Given the description of an element on the screen output the (x, y) to click on. 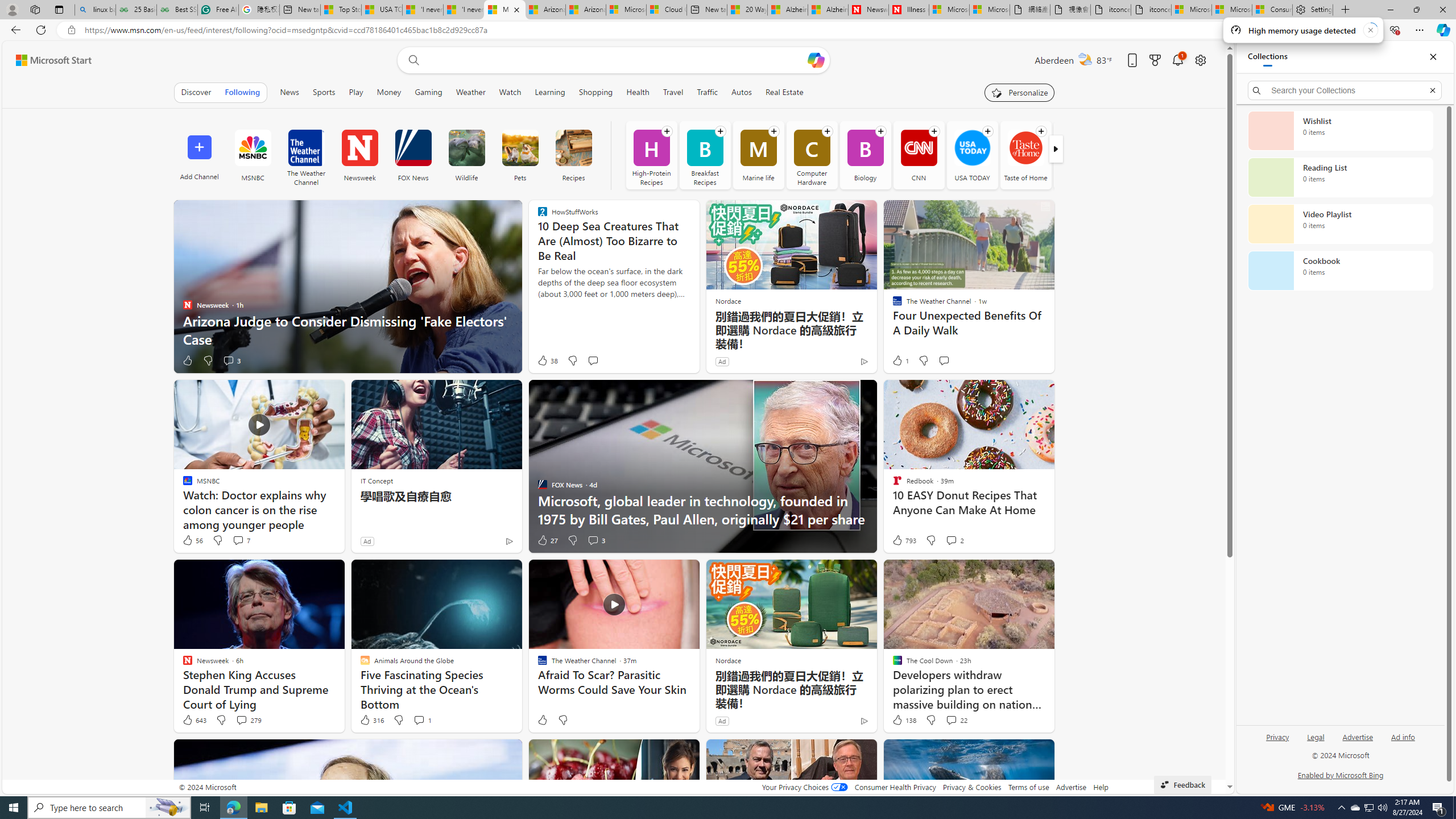
Reading List collection, 0 items (1339, 177)
Skip to content (49, 59)
Marine life (758, 155)
Illness news & latest pictures from Newsweek.com (908, 9)
Recipes (573, 155)
CNN (918, 147)
Gaming (428, 92)
View comments 7 Comment (240, 539)
